Given the description of an element on the screen output the (x, y) to click on. 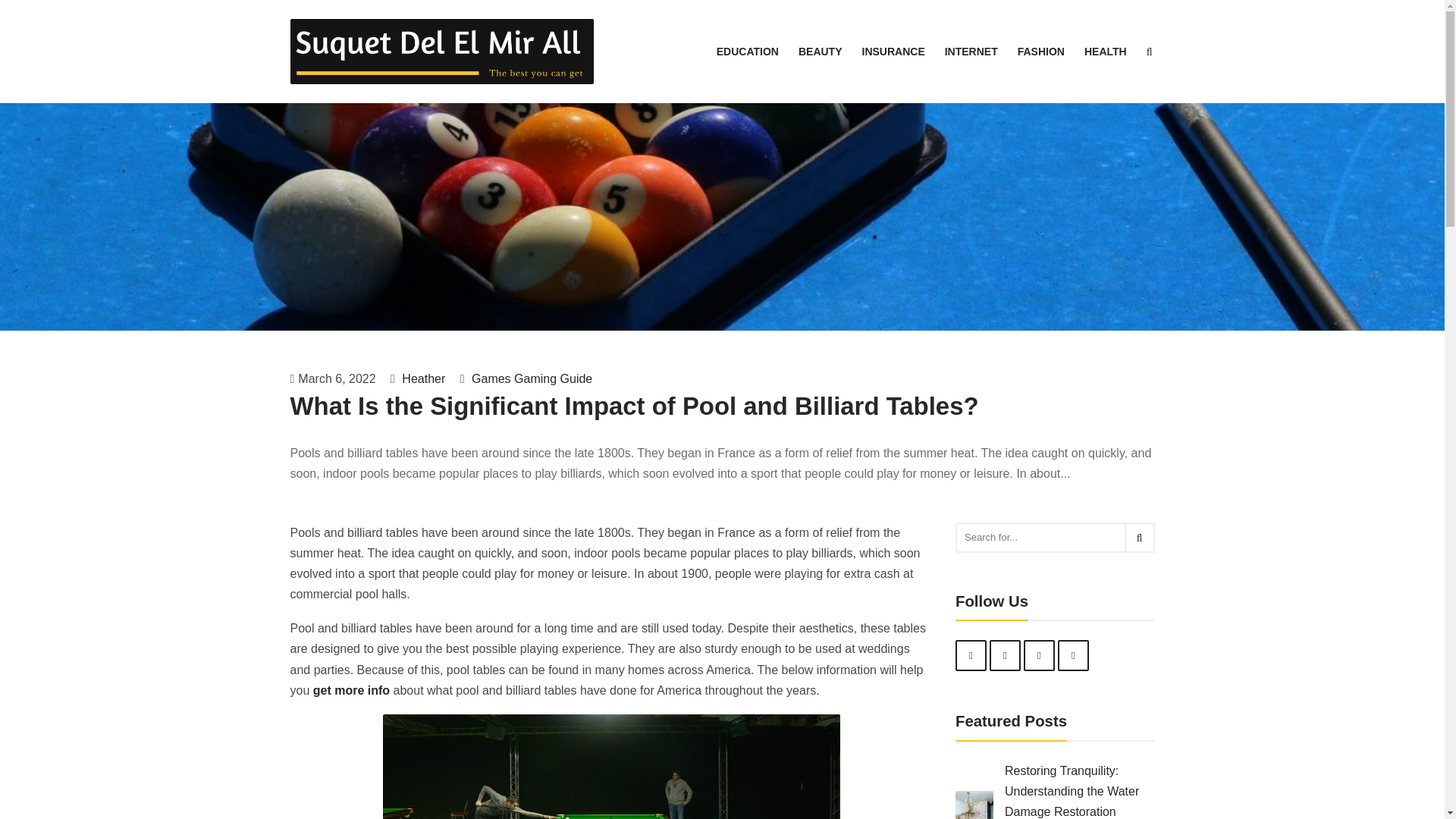
Games (491, 378)
INTERNET (971, 51)
Author (417, 378)
get more info (351, 689)
Education (747, 51)
Creation time (333, 378)
Heather (421, 378)
Beauty (820, 51)
INSURANCE (892, 51)
FASHION (1040, 51)
